Given the description of an element on the screen output the (x, y) to click on. 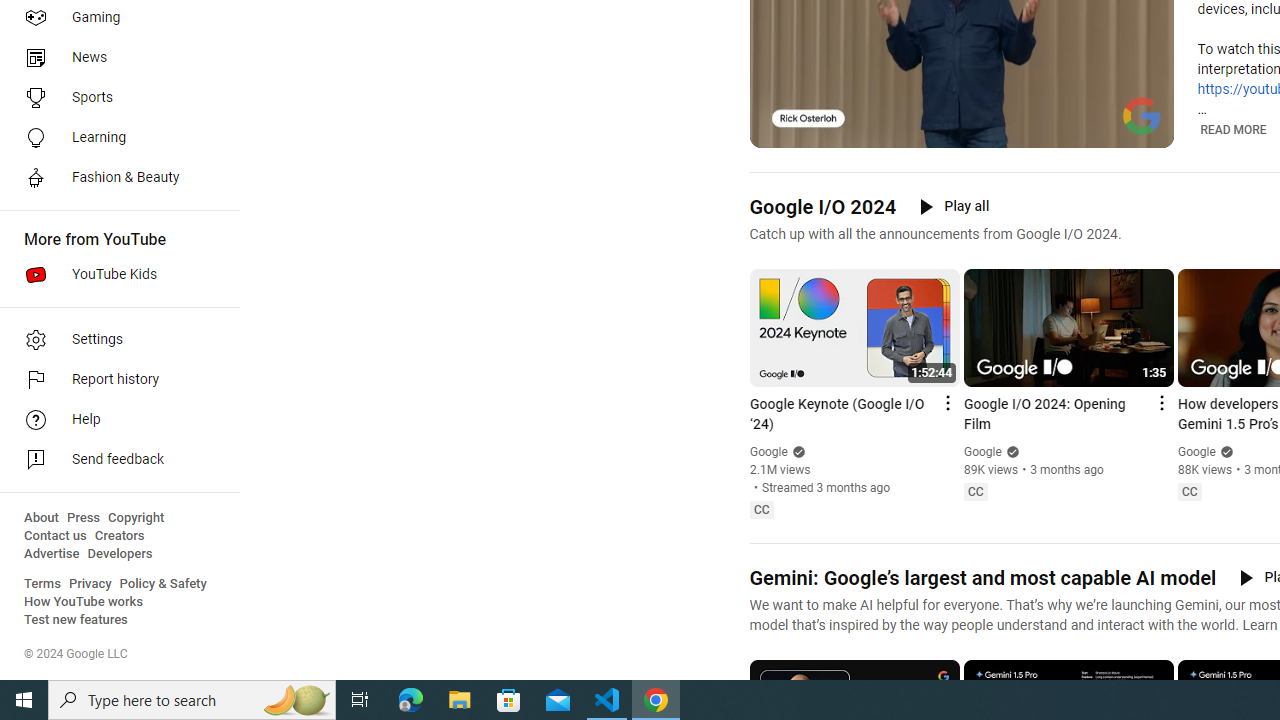
Play all (954, 206)
READ MORE (1233, 129)
Learning (113, 137)
Seek slider (961, 109)
Fashion & Beauty (113, 177)
Closed captions (1189, 492)
Policy & Safety (163, 584)
